Given the description of an element on the screen output the (x, y) to click on. 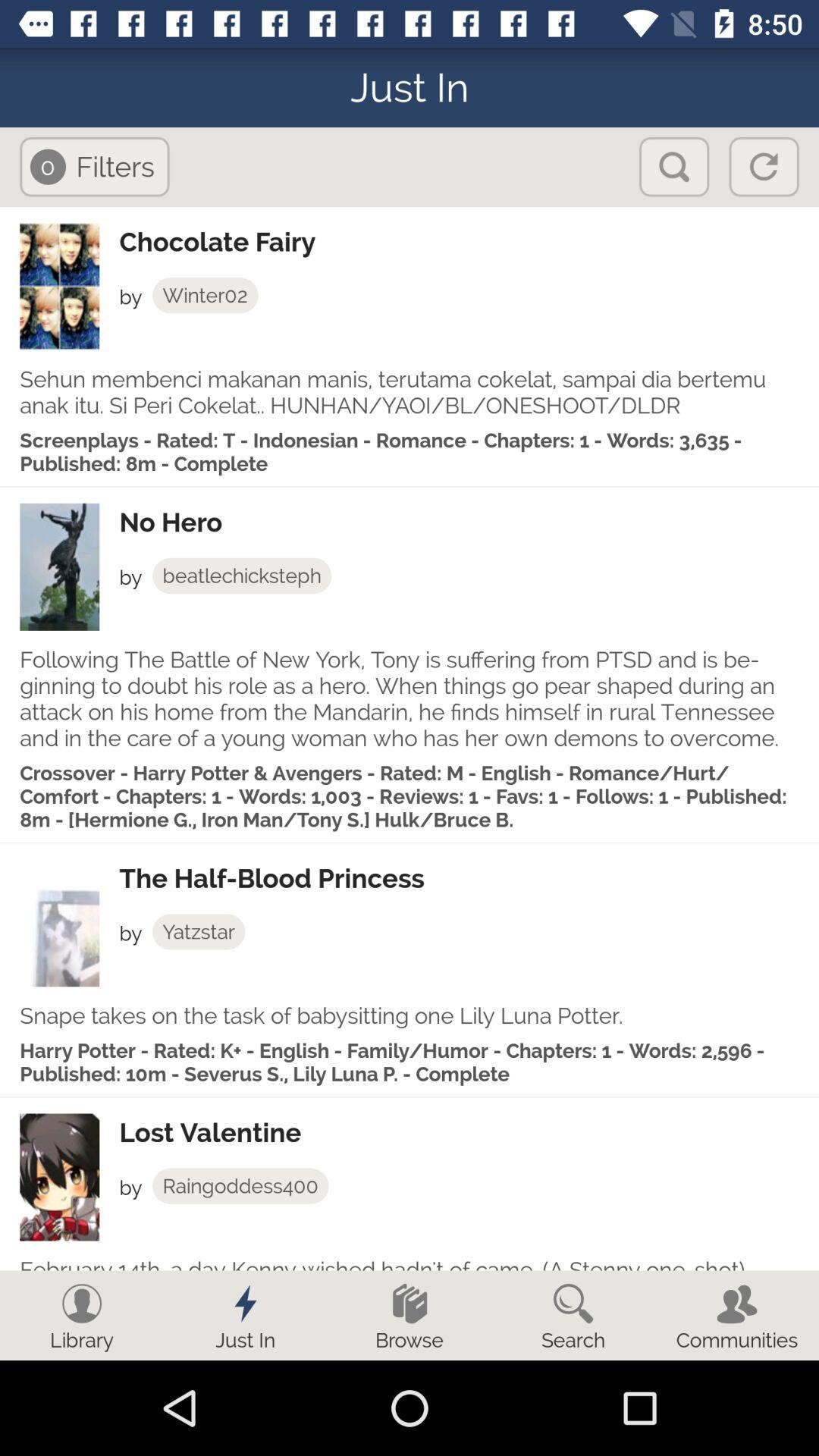
turn on icon to the right of the by item (240, 1186)
